Given the description of an element on the screen output the (x, y) to click on. 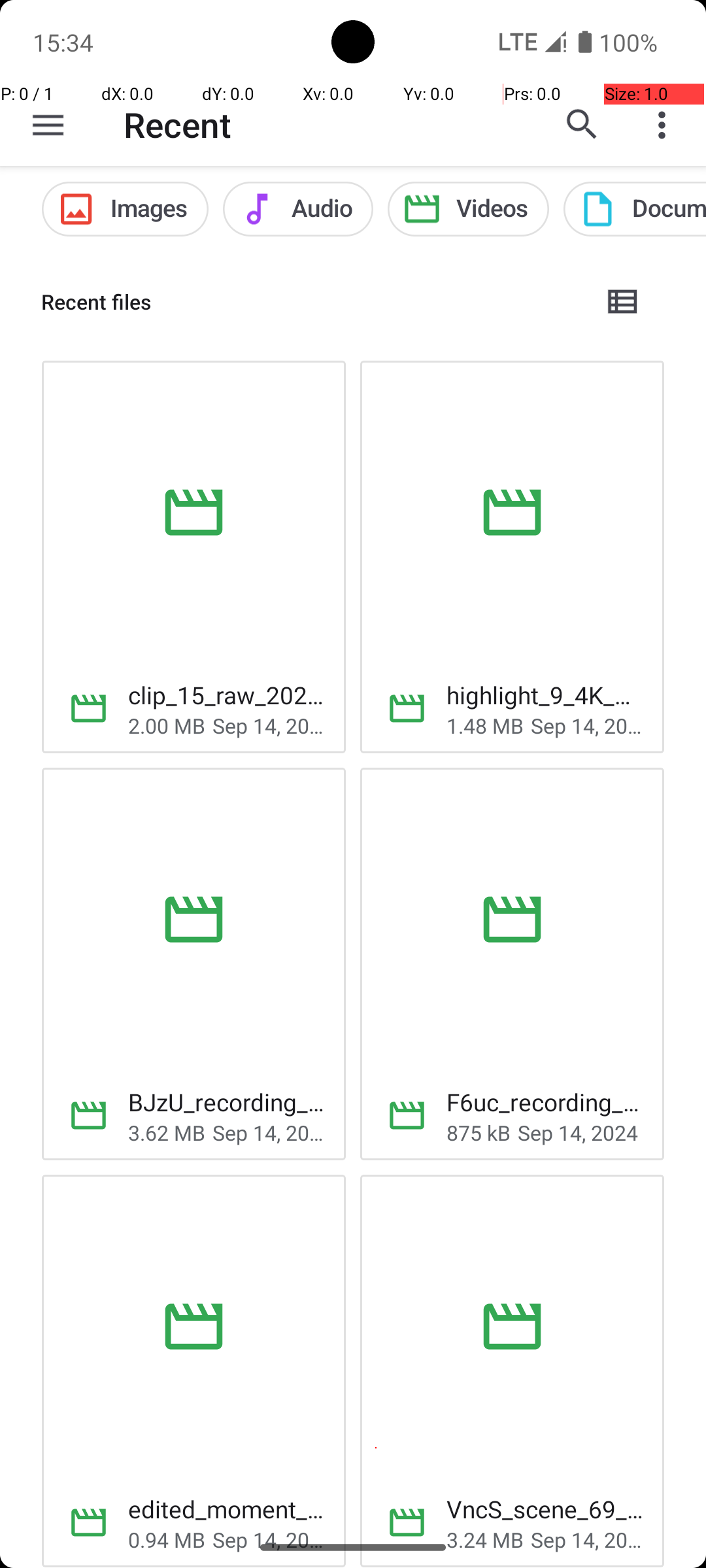
clip_15_raw_2023_05_29.mp4 Element type: android.widget.TextView (226, 694)
2.00 MB Element type: android.widget.TextView (166, 725)
Sep 14, 2024 Element type: android.widget.TextView (268, 725)
highlight_9_4K_UsMM.mp4 Element type: android.widget.TextView (544, 694)
1.48 MB Element type: android.widget.TextView (484, 725)
BJzU_recording_19_4K.mp4 Element type: android.widget.TextView (226, 1101)
3.62 MB Element type: android.widget.TextView (166, 1132)
F6uc_recording_24_HD.mp4 Element type: android.widget.TextView (544, 1101)
875 kB Element type: android.widget.TextView (478, 1132)
edited_moment_99_export.mp4 Element type: android.widget.TextView (226, 1508)
0.94 MB Element type: android.widget.TextView (166, 1539)
VncS_scene_69_.mp4 Element type: android.widget.TextView (544, 1508)
3.24 MB Element type: android.widget.TextView (484, 1539)
